Given the description of an element on the screen output the (x, y) to click on. 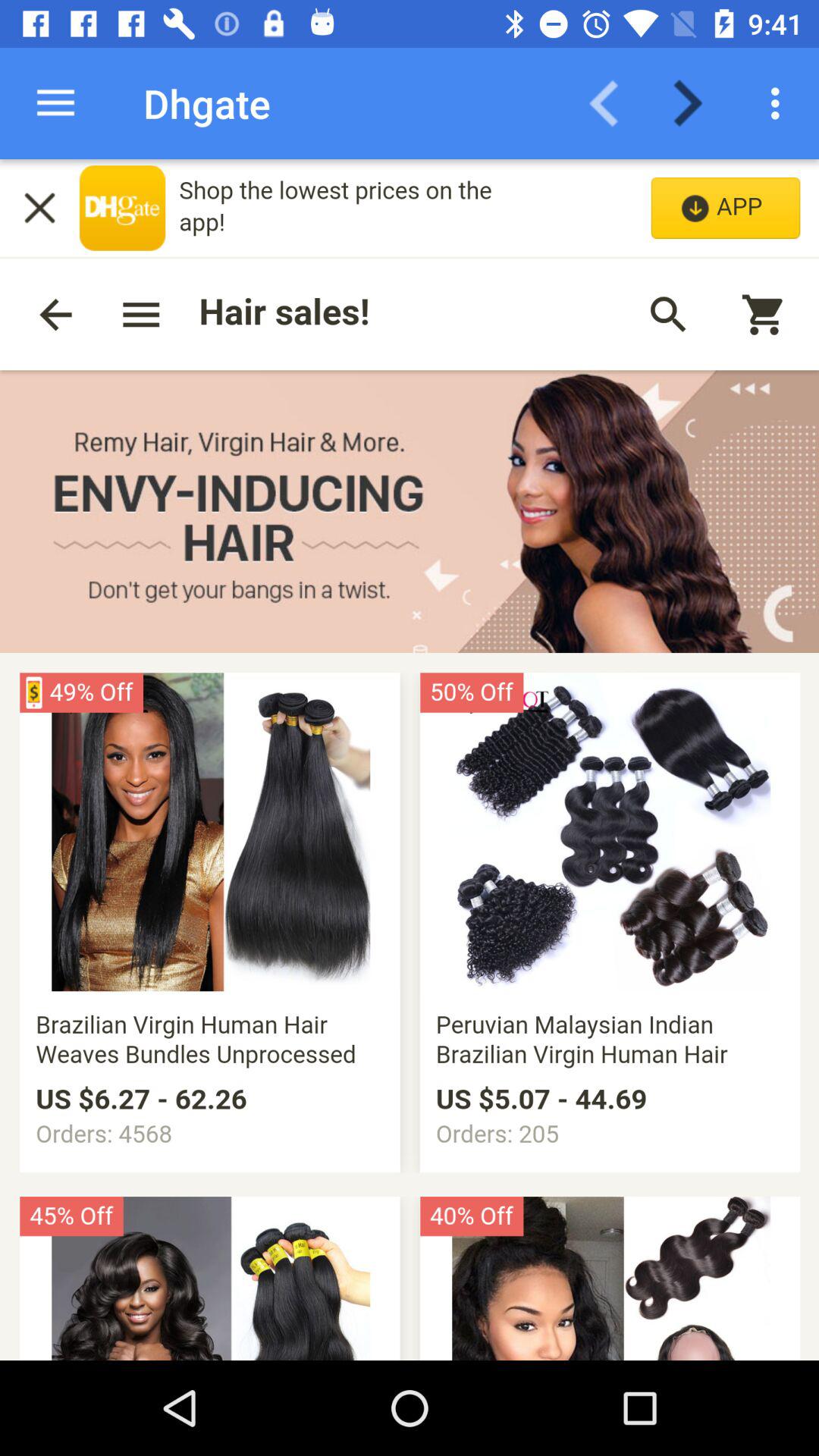
go to previous (613, 103)
